Given the description of an element on the screen output the (x, y) to click on. 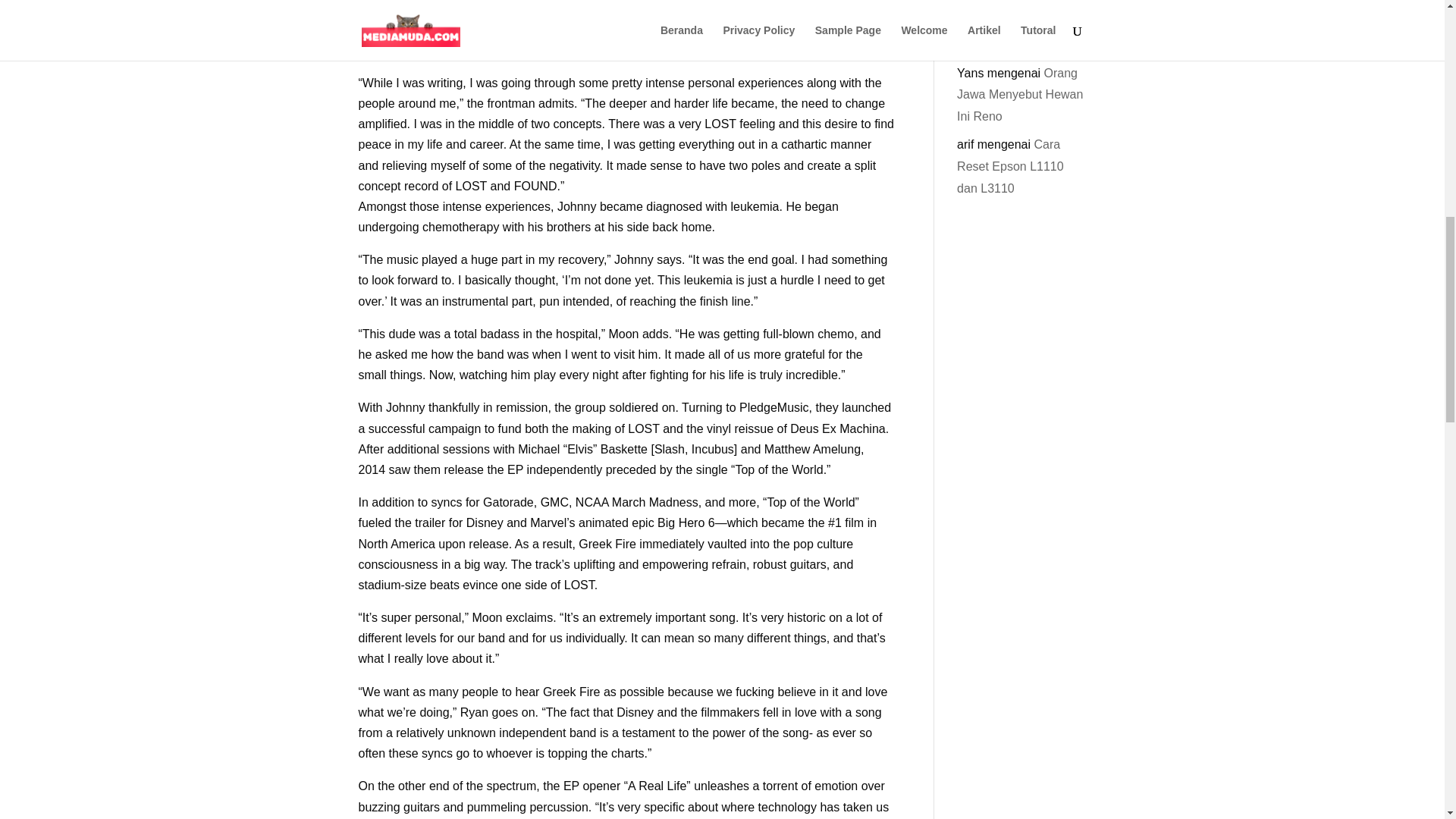
Sepeda Lipat Aleoca, salah satu merk terbaik (1018, 33)
Cara Reset Epson L1110 dan L3110 (1010, 166)
Orang Jawa Menyebut Hewan Ini Reno (1019, 94)
